Given the description of an element on the screen output the (x, y) to click on. 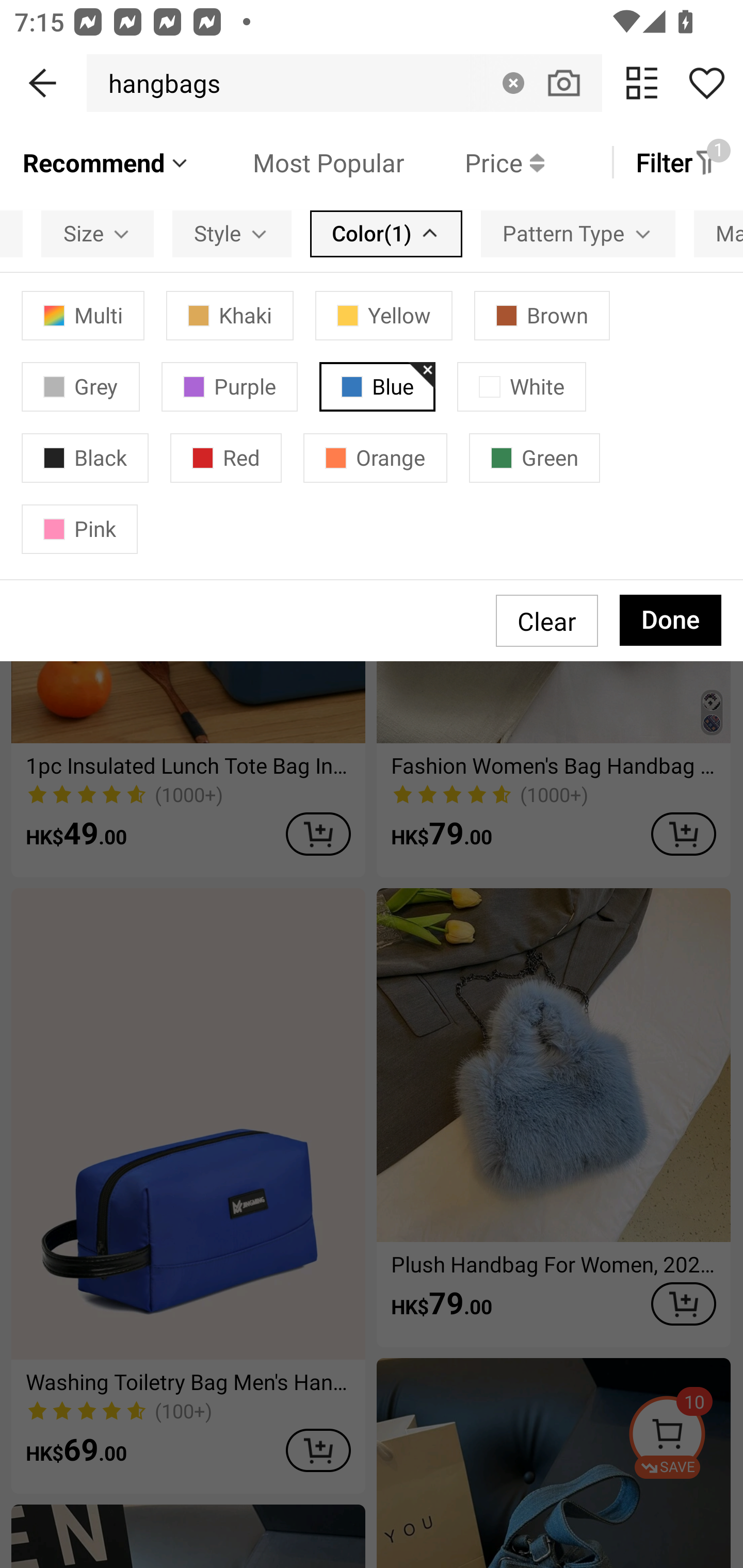
hangbags Clear (343, 82)
hangbags (158, 82)
Clear (513, 82)
change view (641, 82)
Share (706, 82)
Recommend (106, 162)
Most Popular (297, 162)
Price (474, 162)
Filter 1 (677, 162)
Size (97, 233)
Style (231, 233)
Color(1) (385, 233)
Pattern Type (577, 233)
